Given the description of an element on the screen output the (x, y) to click on. 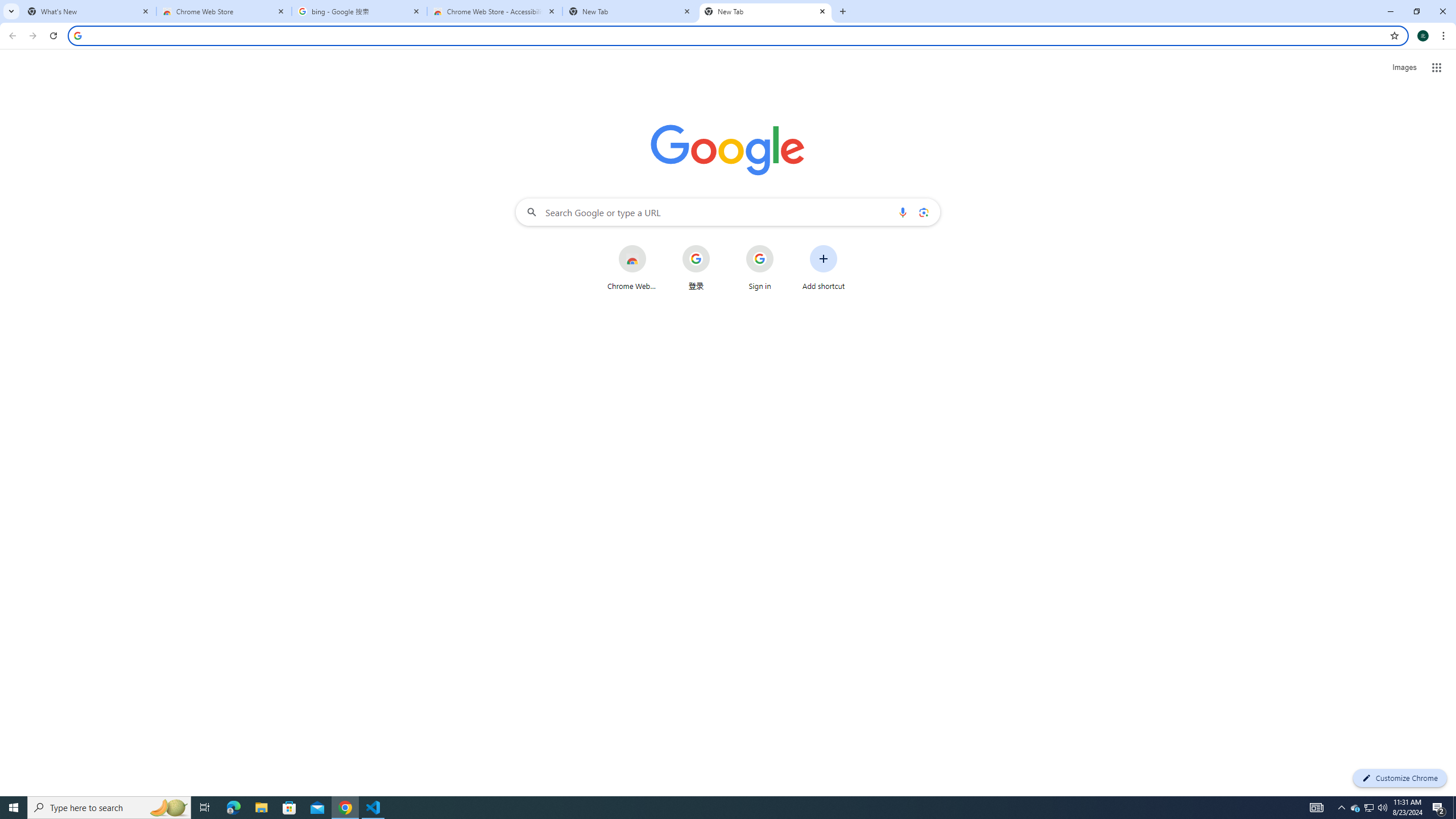
What's New (88, 11)
More actions for Sign in shortcut (782, 245)
Chrome Web Store - Accessibility (494, 11)
